Given the description of an element on the screen output the (x, y) to click on. 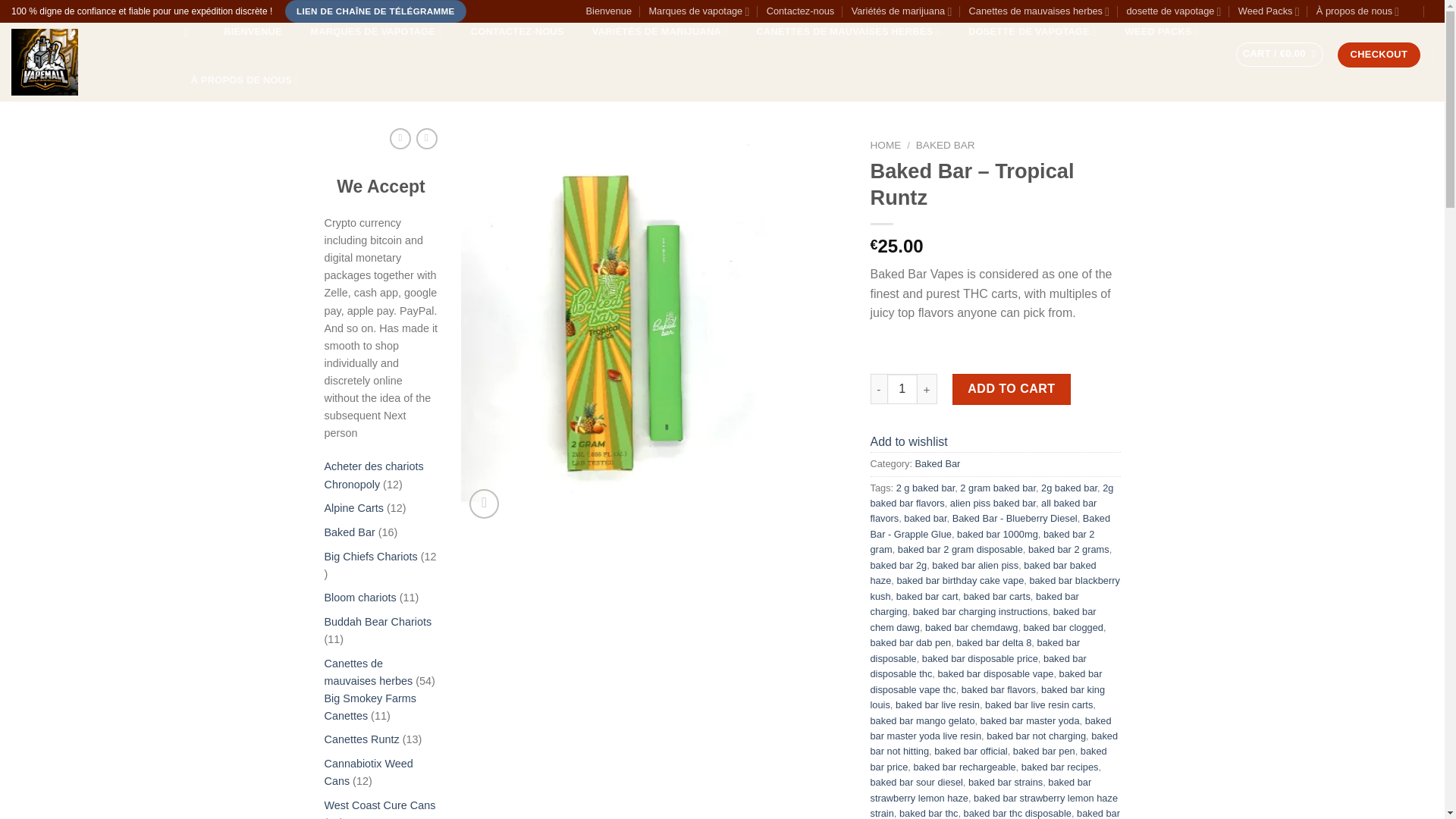
Qty (901, 388)
Weed Packs (1269, 11)
Cart (1279, 54)
Bienvenue (608, 11)
510 Premium Carts - Just another WordPress site (82, 61)
Canettes de mauvaises herbes (1039, 11)
Contactez-nous (800, 11)
dosette de vapotage (1173, 11)
Marques de vapotage (698, 11)
Zoom (483, 503)
